Given the description of an element on the screen output the (x, y) to click on. 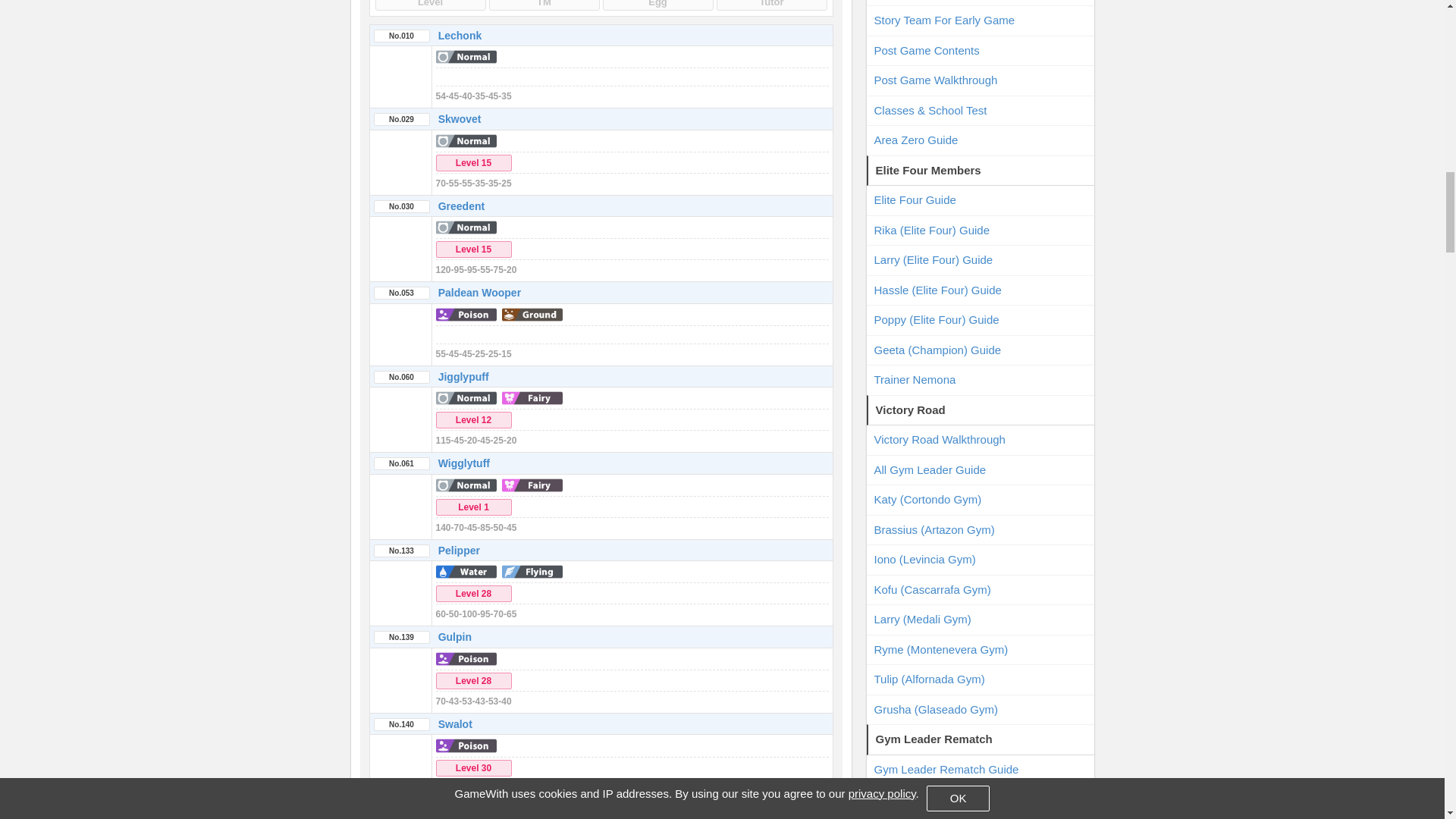
Paldean Wooper (479, 292)
Lechonk (459, 35)
Skwovet (459, 119)
Wigglytuff (463, 463)
Jigglypuff (463, 377)
Greedent (461, 205)
